Given the description of an element on the screen output the (x, y) to click on. 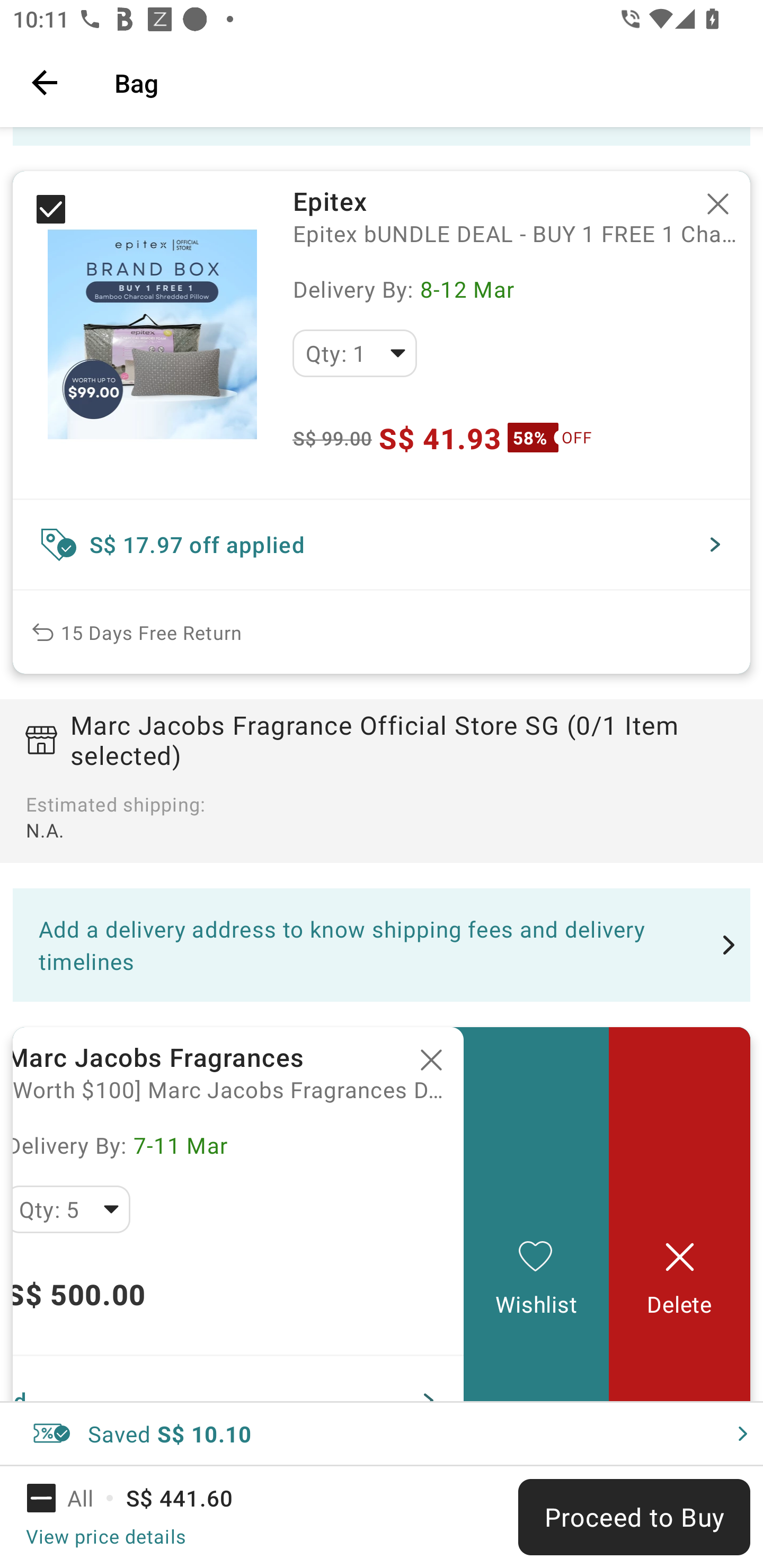
Navigate up (44, 82)
Bag (426, 82)
Qty: 1 (354, 353)
S$ 17.97 off applied (381, 544)
Wishlist (535, 1214)
Qty: 5 (71, 1208)
Saved S$ 10.10 (381, 1433)
All (72, 1497)
Proceed to Buy (634, 1516)
View price details (105, 1535)
